Given the description of an element on the screen output the (x, y) to click on. 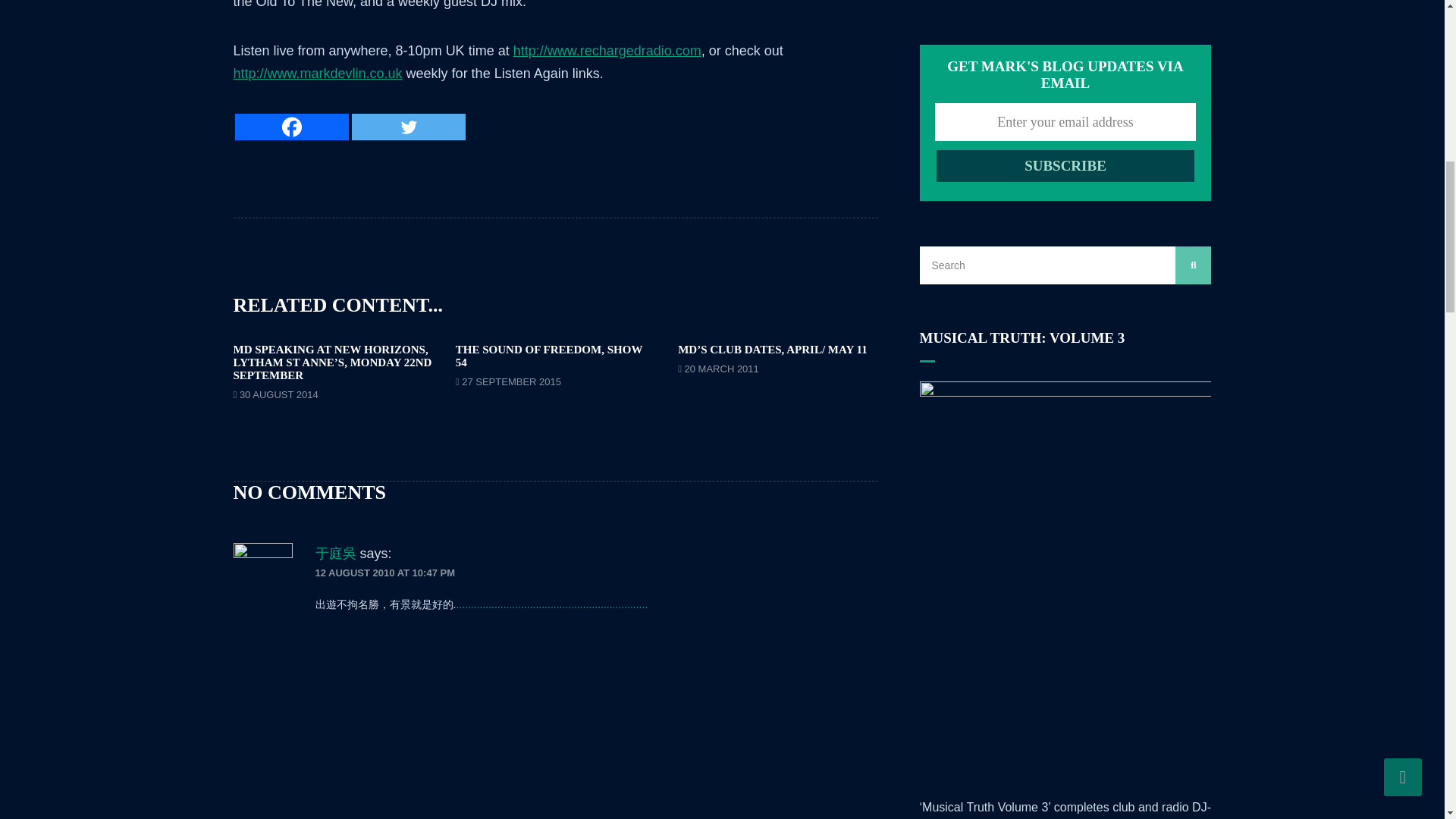
THE SOUND OF FREEDOM, SHOW 54 (548, 355)
SUBSCRIBE (1064, 165)
Facebook (291, 126)
Twitter (408, 126)
